Given the description of an element on the screen output the (x, y) to click on. 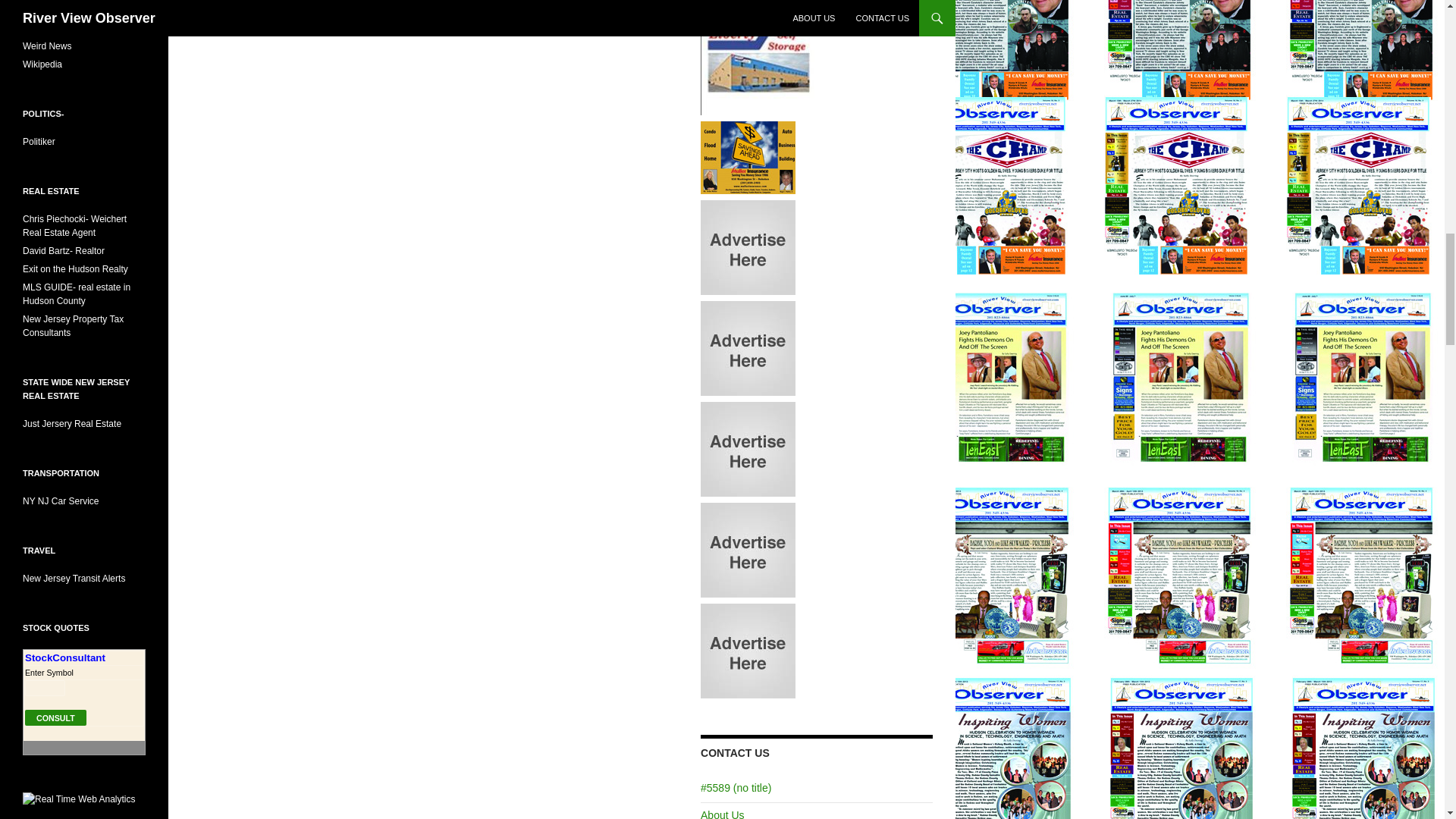
Liberty Self Storage Jersey City (756, 56)
Consult (54, 717)
Muller Insurance (747, 155)
